Given the description of an element on the screen output the (x, y) to click on. 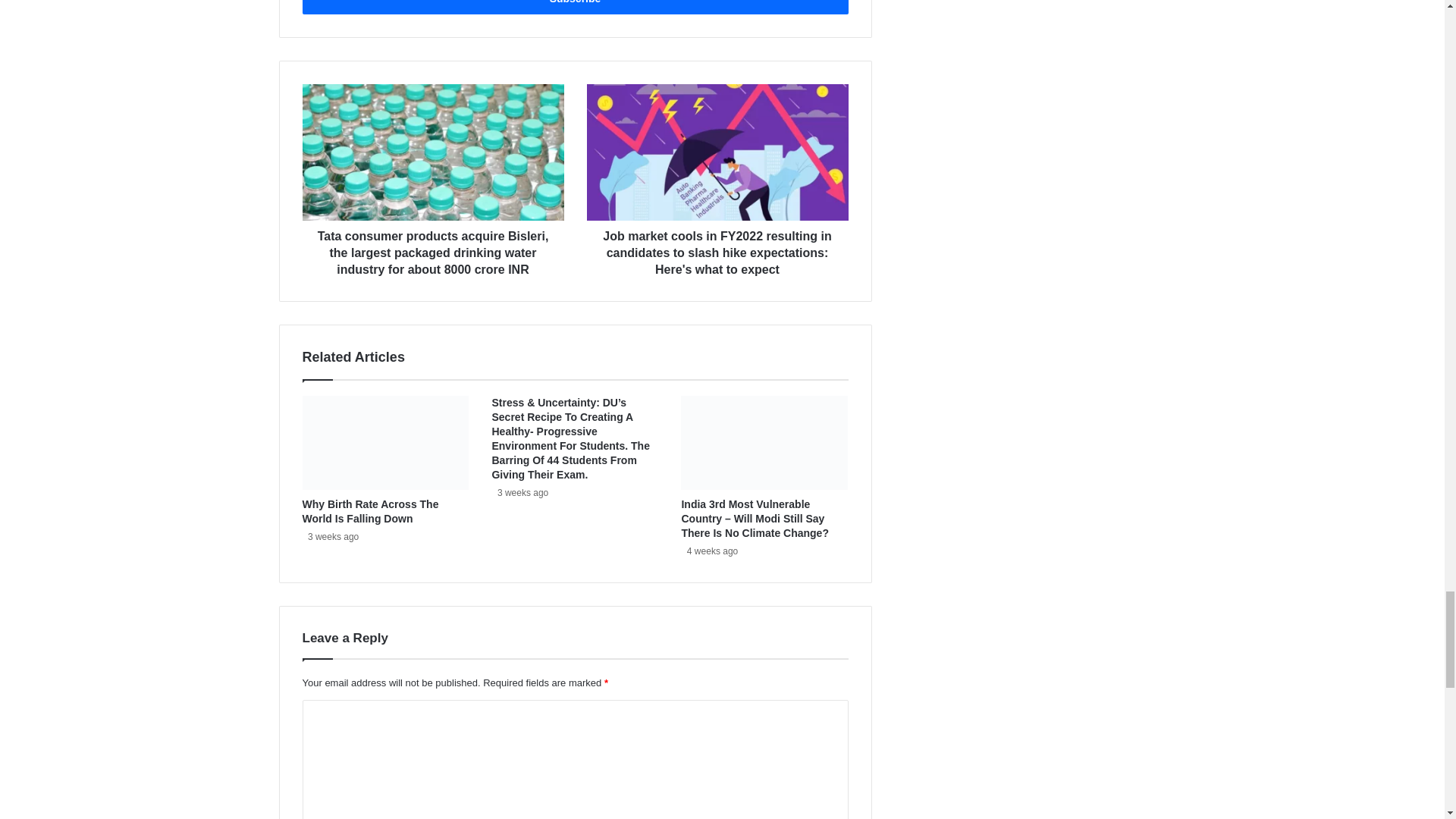
Subscribe (574, 7)
